Given the description of an element on the screen output the (x, y) to click on. 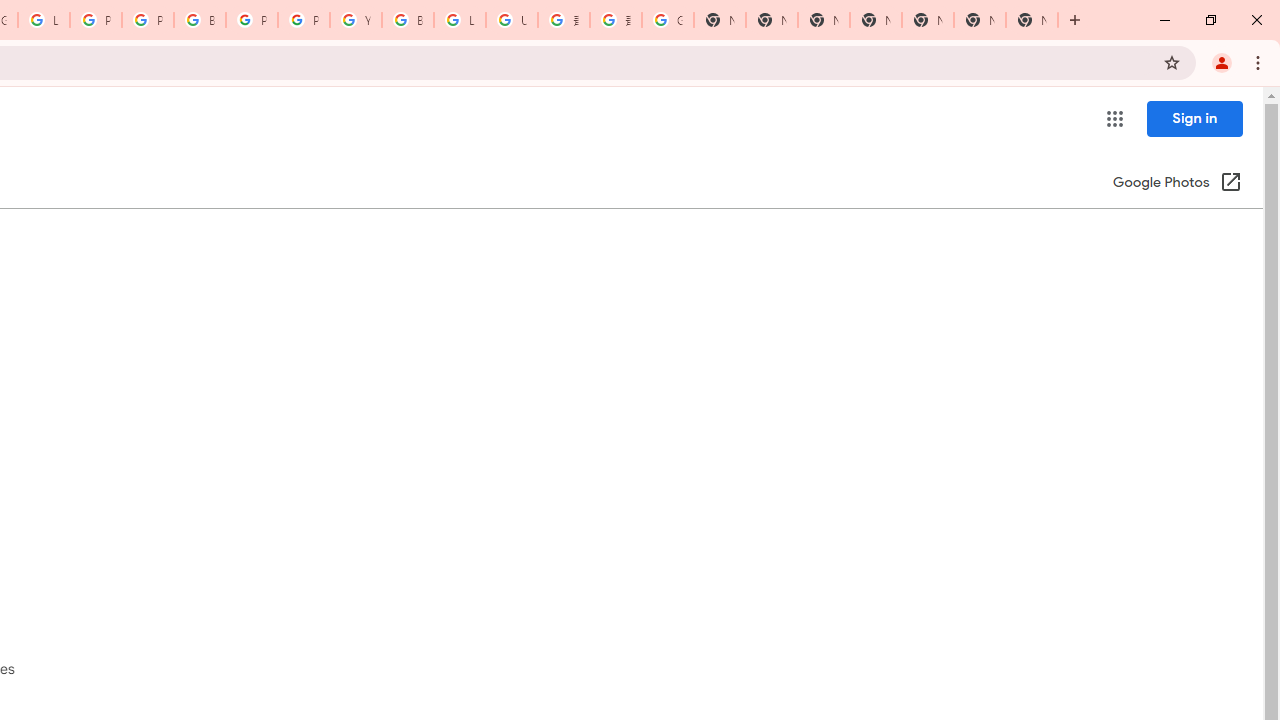
YouTube (355, 20)
You (1221, 62)
Privacy Help Center - Policies Help (95, 20)
Privacy Help Center - Policies Help (147, 20)
New Tab (875, 20)
Sign in (1194, 118)
Browse Chrome as a guest - Computer - Google Chrome Help (407, 20)
New Tab (1032, 20)
